Given the description of an element on the screen output the (x, y) to click on. 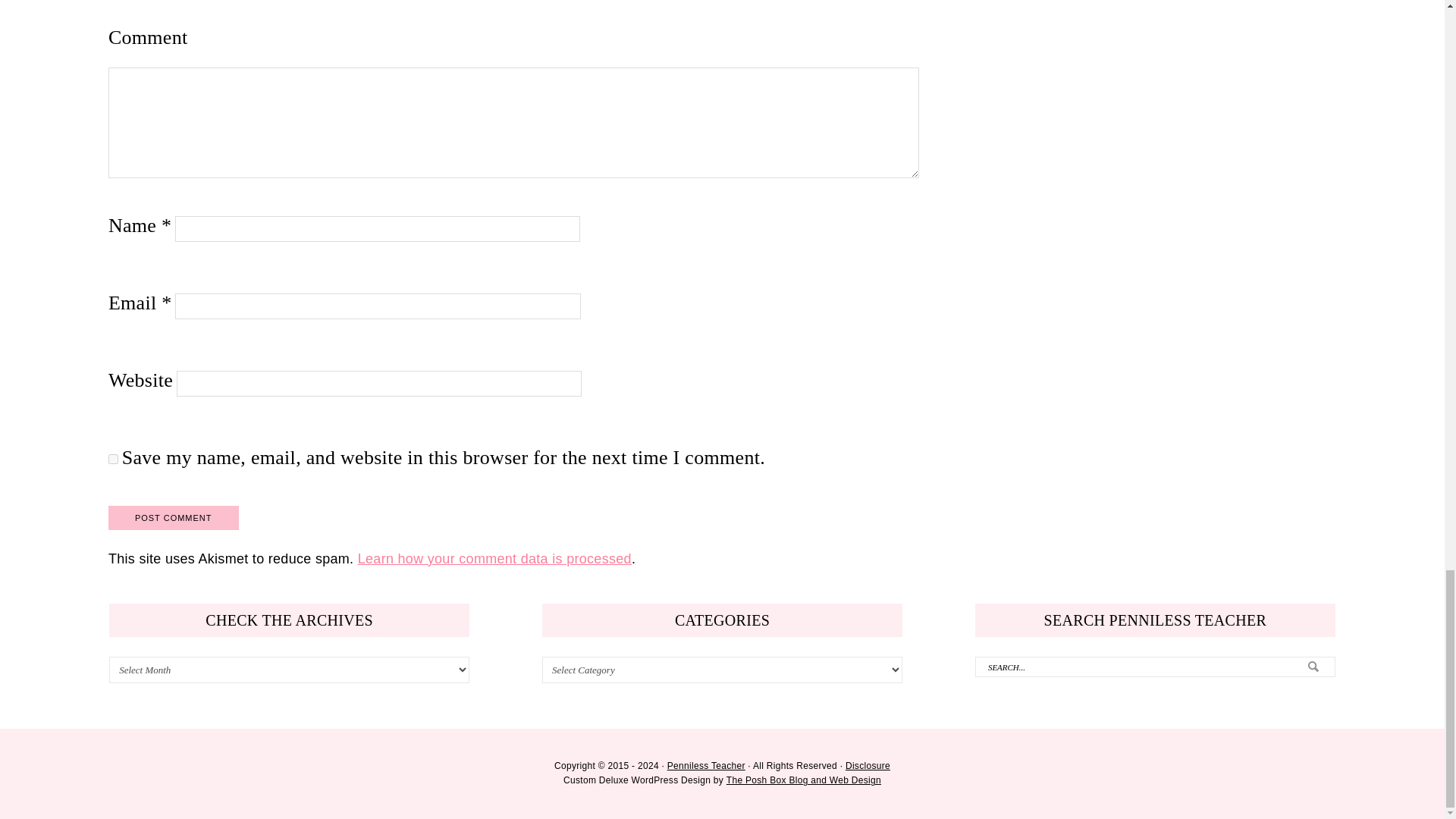
yes (112, 459)
Disclosure (867, 765)
The Posh Box Blog and Web Design (803, 779)
Post Comment (172, 517)
Post Comment (172, 517)
Penniless Teacher (705, 765)
Learn how your comment data is processed (494, 558)
